Given the description of an element on the screen output the (x, y) to click on. 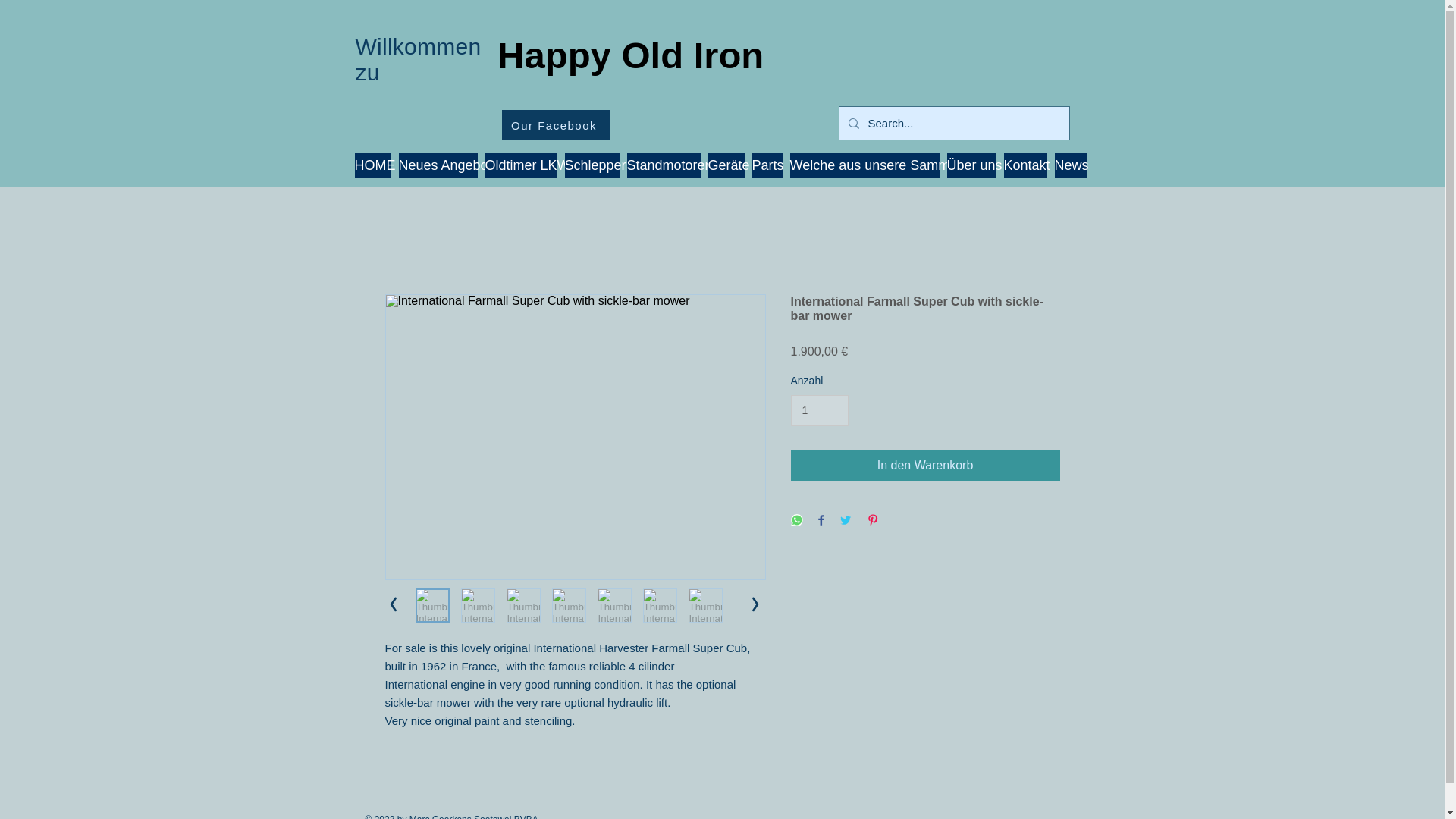
Oldtimer LKW (520, 165)
1 (818, 409)
News (1070, 165)
Neues Angebot (437, 165)
Welche aus unsere Sammlung (864, 165)
HOME (373, 165)
Parts (767, 165)
Our Facebook (556, 124)
Standmotoren (663, 165)
Kontakt (1025, 165)
